Given the description of an element on the screen output the (x, y) to click on. 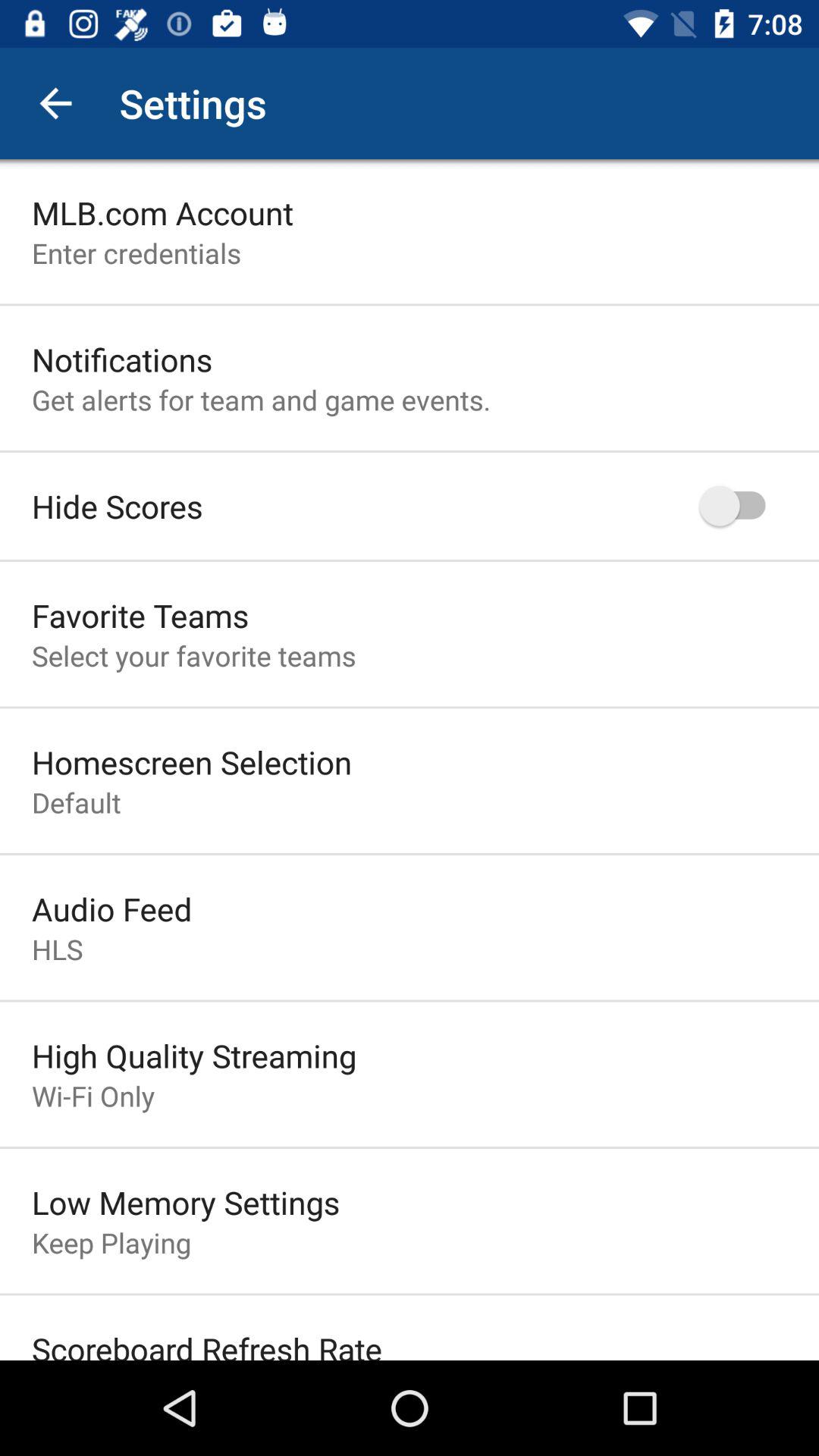
turn on the item above audio feed (76, 802)
